Given the description of an element on the screen output the (x, y) to click on. 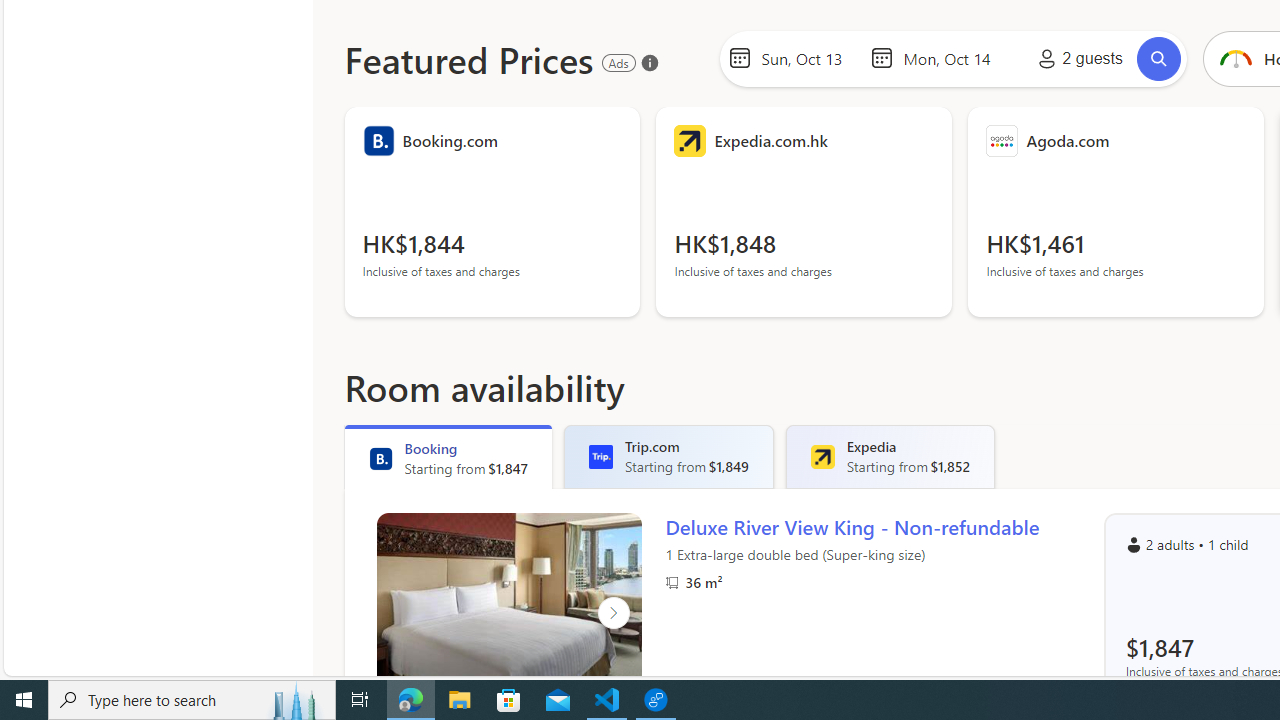
Booking Booking Starting from $1,847 (448, 456)
Vendor Logo (1001, 140)
Booking (380, 458)
Start Date (810, 57)
End date (952, 57)
About our ads (649, 62)
TripDotCom (601, 456)
Click to scroll right (612, 612)
Partner Image (671, 582)
Expedia (822, 456)
Expedia Expedia Starting from $1,852 (889, 456)
